Given the description of an element on the screen output the (x, y) to click on. 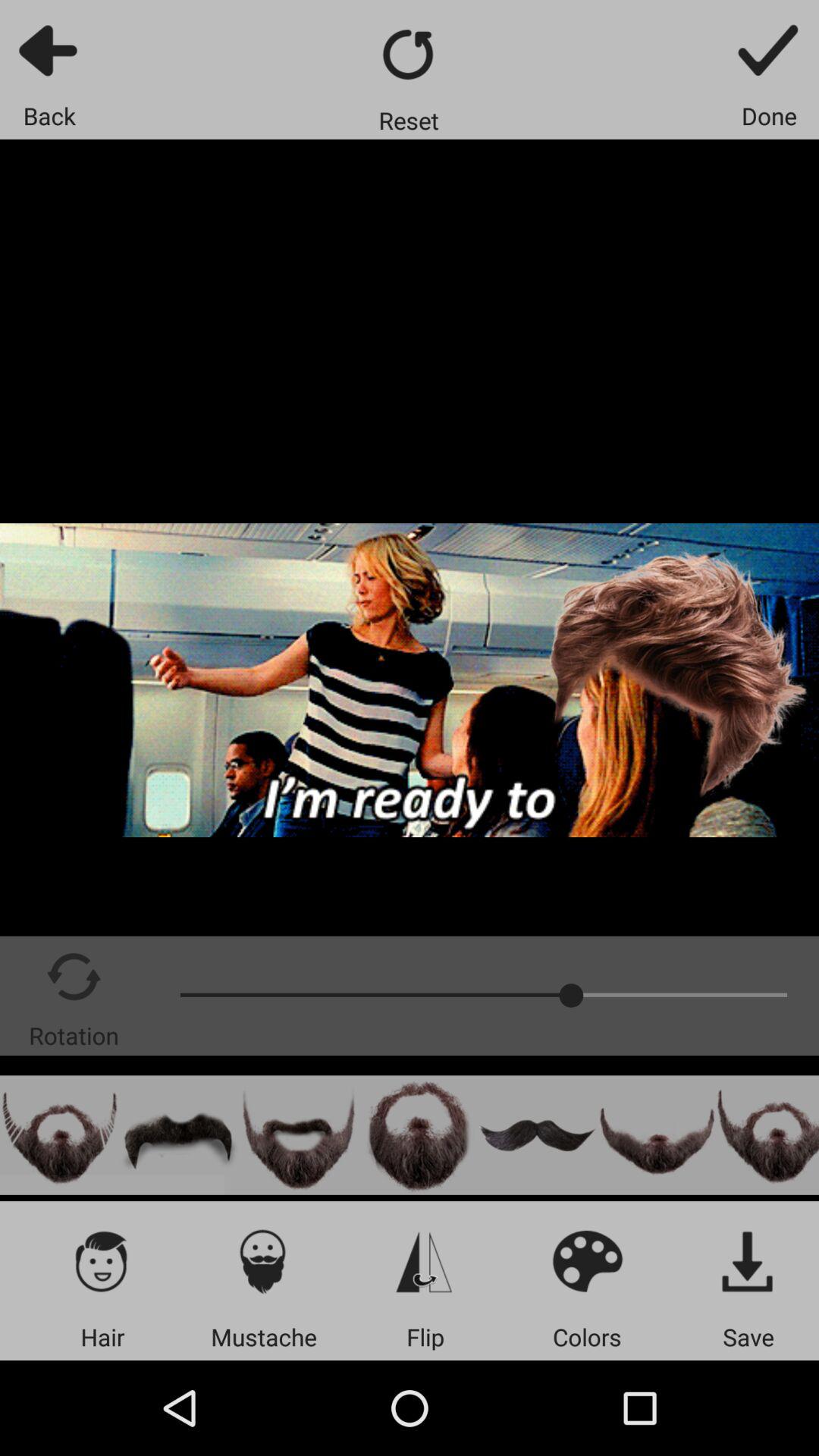
go back (49, 49)
